Given the description of an element on the screen output the (x, y) to click on. 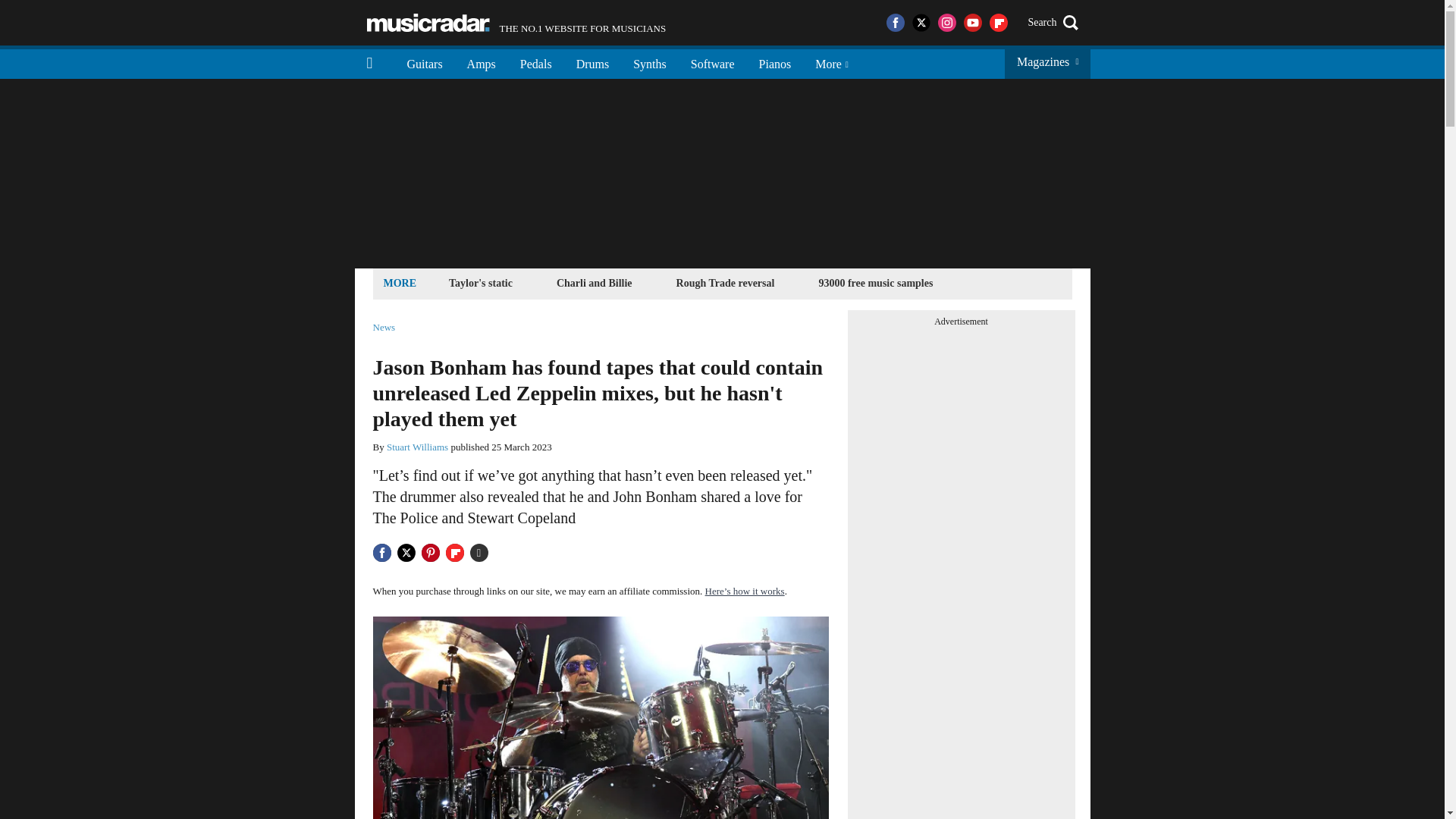
93000 free music samples (874, 282)
Drums (592, 61)
Synths (649, 61)
Charli and Billie (594, 282)
Stuart Williams (417, 446)
Amps (481, 61)
Software (712, 61)
Pianos (516, 22)
Taylor's static (774, 61)
